Given the description of an element on the screen output the (x, y) to click on. 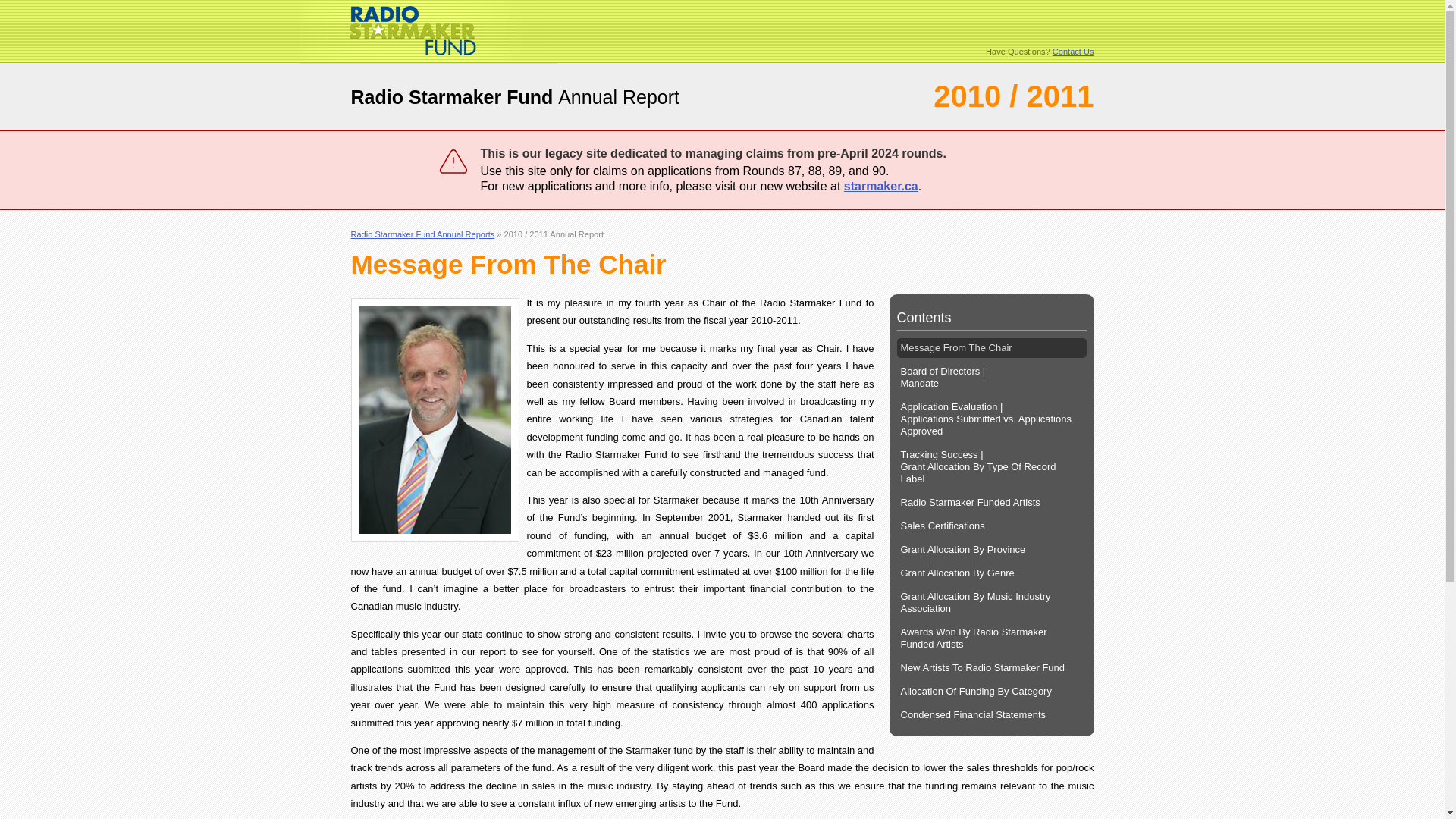
Awards Won By Radio Starmaker Funded Artists (991, 638)
Starmaker Home Page (427, 58)
Grant Allocation By Genre (991, 573)
Grant Allocation By Province (991, 549)
starmaker.ca (881, 185)
Condensed Financial Statements (991, 714)
Sales Certifications (991, 526)
New Artists To Radio Starmaker Fund (991, 668)
Allocation Of Funding By Category (991, 691)
Grant Allocation By Music Industry Association (991, 603)
Radio Starmaker Fund Annual Report (514, 96)
Radio Starmaker Funded Artists (991, 502)
Contact Us (1073, 51)
Radio Starmaker Fund Annual Reports (422, 234)
